Given the description of an element on the screen output the (x, y) to click on. 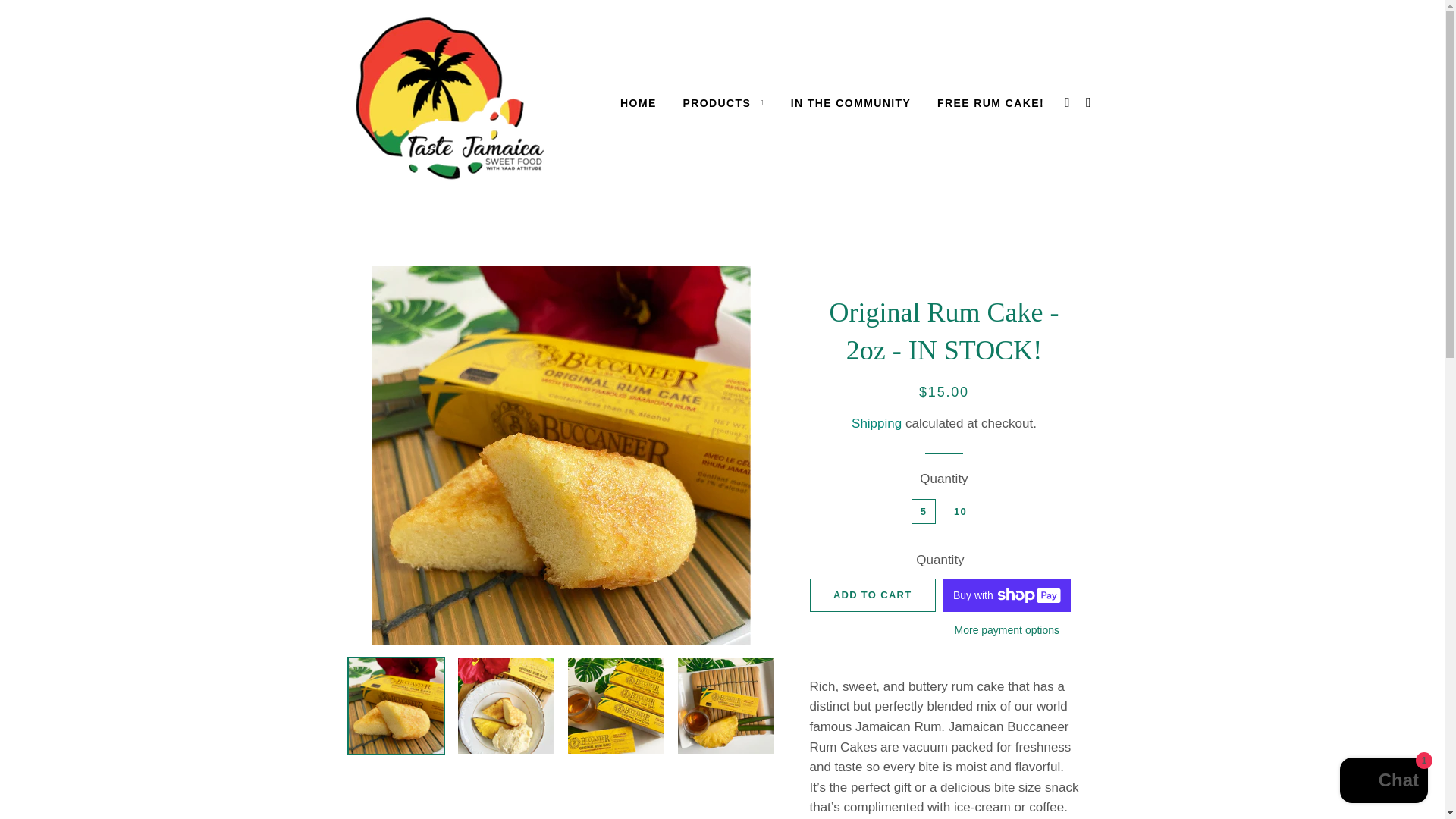
CART (1088, 102)
LOG IN (1068, 102)
HOME (638, 103)
Shopify online store chat (1383, 781)
IN THE COMMUNITY (850, 103)
PRODUCTS (723, 103)
FREE RUM CAKE! (990, 103)
